Given the description of an element on the screen output the (x, y) to click on. 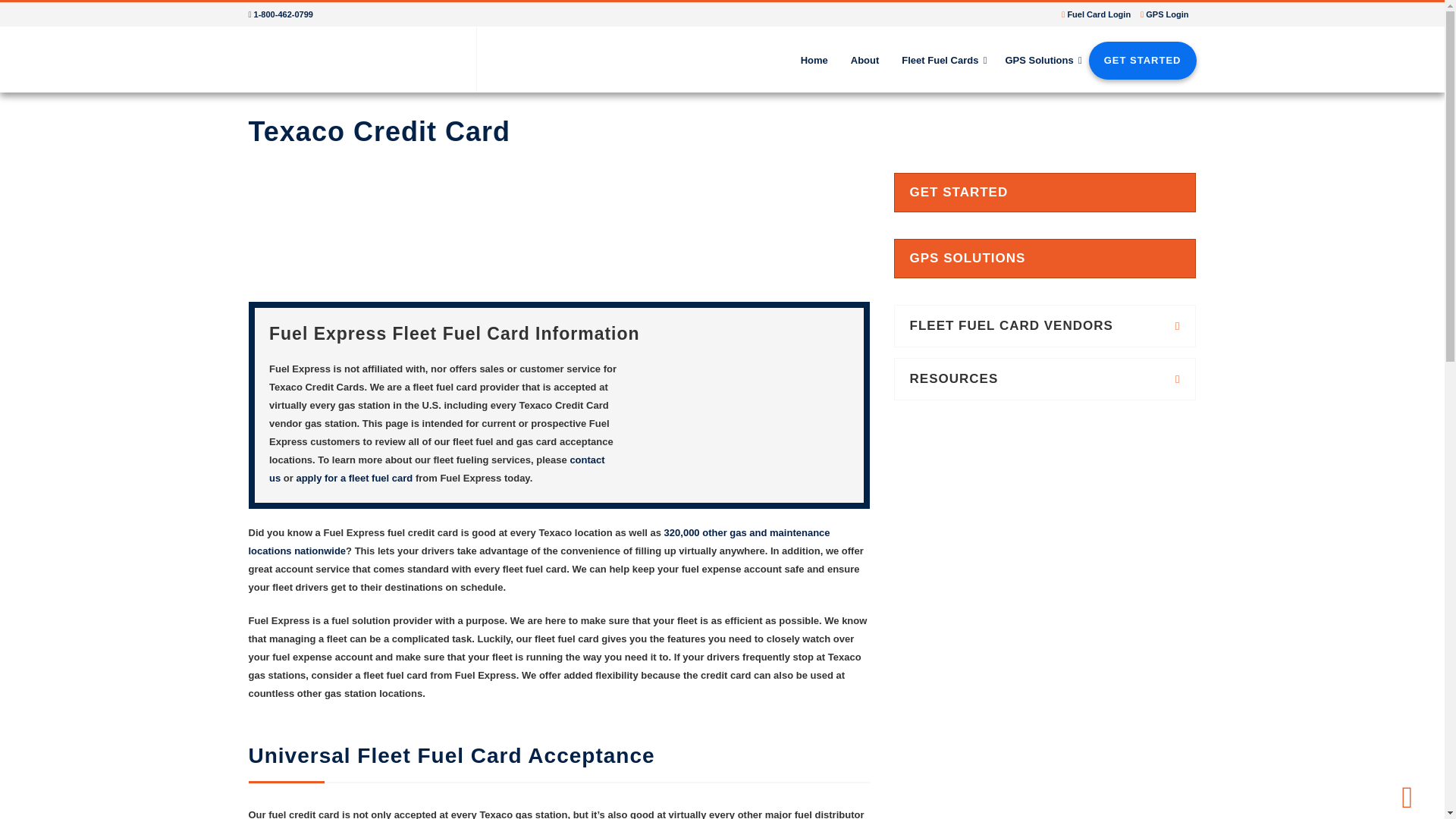
Fleet Fuel Cards (940, 60)
Home (814, 60)
Fuel Card Login (1099, 13)
1-800-462-0799 (283, 13)
Scroll to Top (1405, 793)
GPS Login (1166, 13)
About (865, 60)
GPS Solutions (1039, 60)
